Given the description of an element on the screen output the (x, y) to click on. 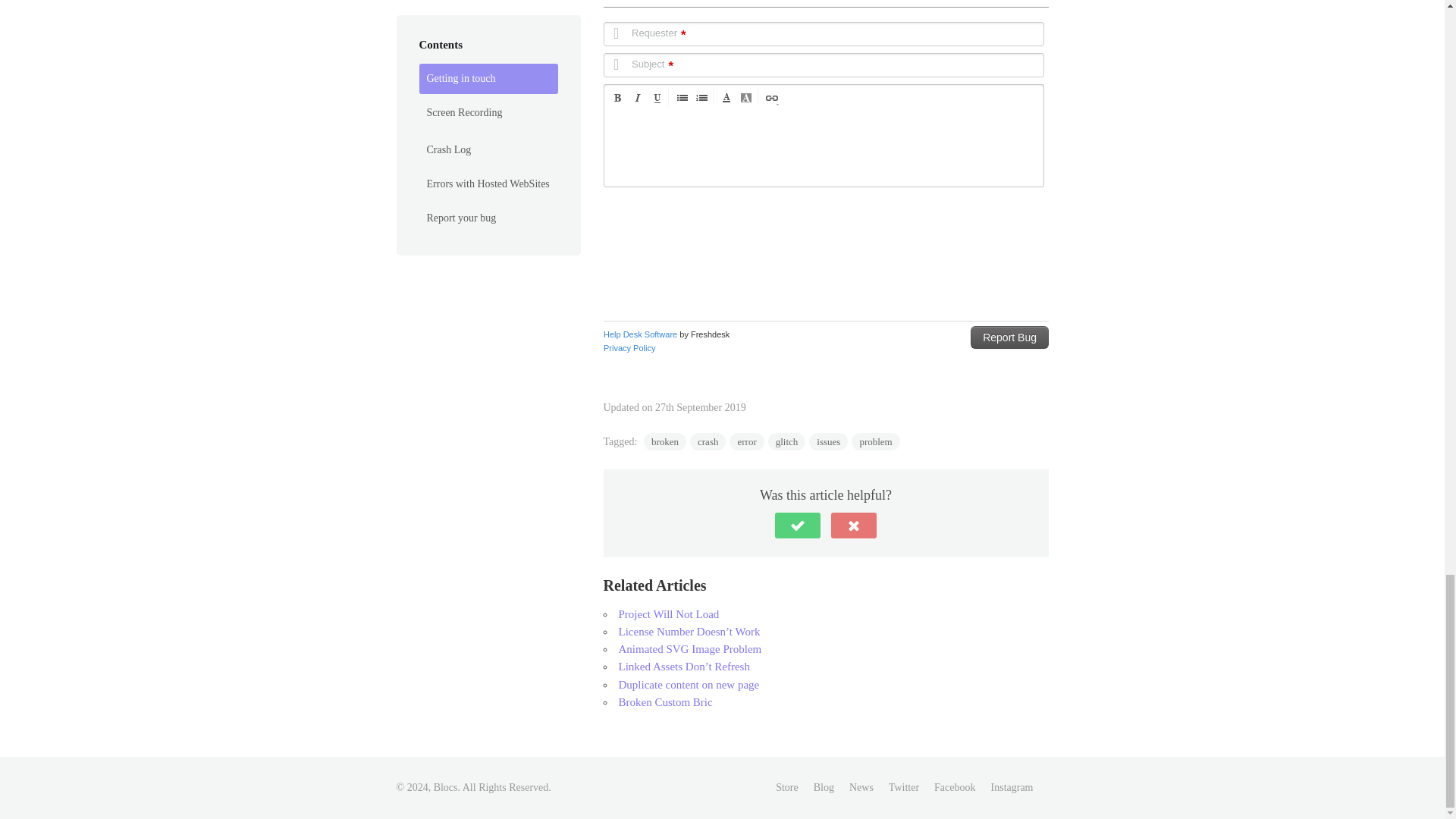
broken (664, 441)
Project Will Not Load (668, 613)
crash (707, 441)
issues (828, 441)
problem (875, 441)
Animated SVG Image Problem (689, 648)
error (745, 441)
glitch (787, 441)
